Given the description of an element on the screen output the (x, y) to click on. 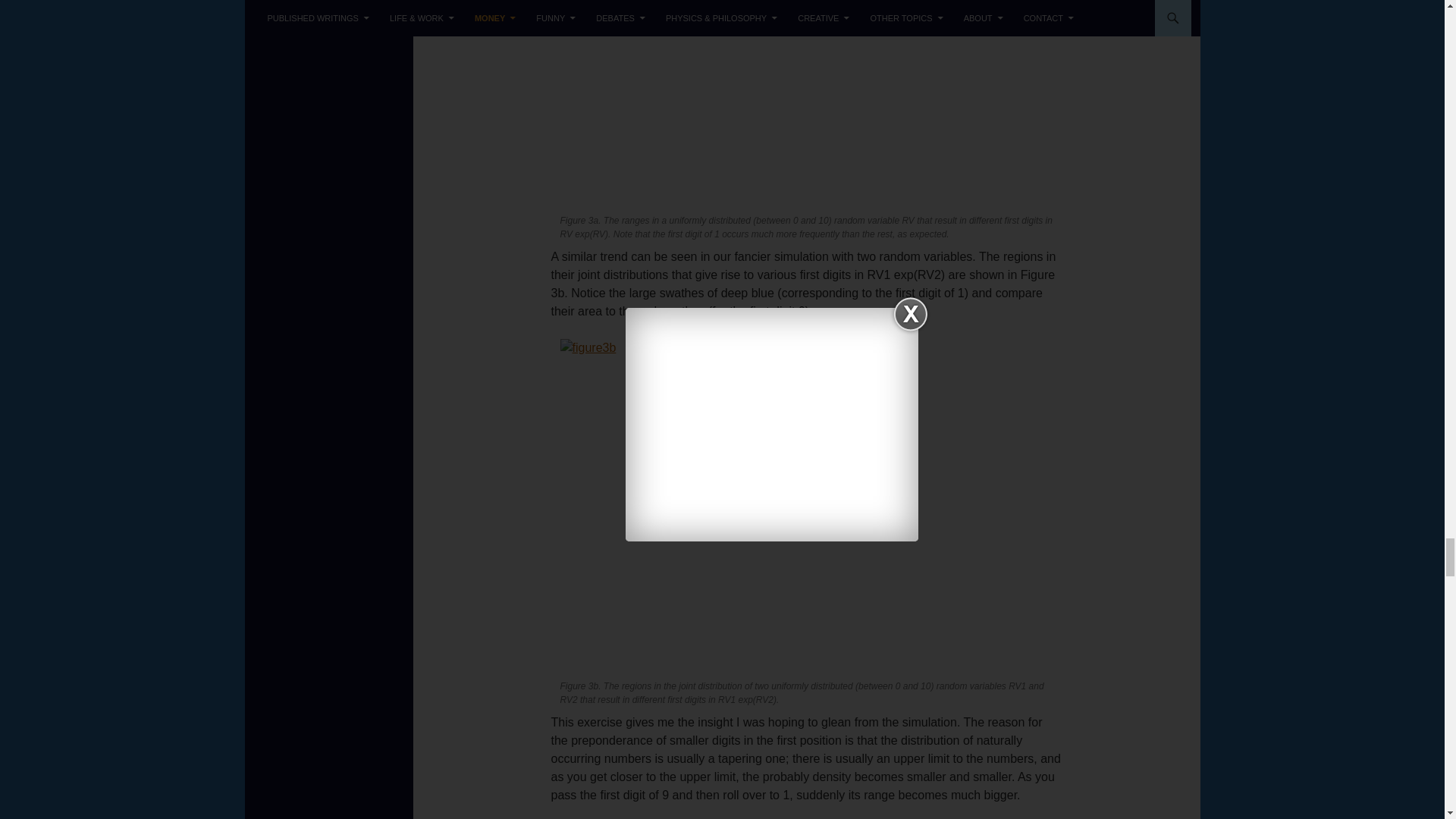
figure3a (805, 103)
